Given the description of an element on the screen output the (x, y) to click on. 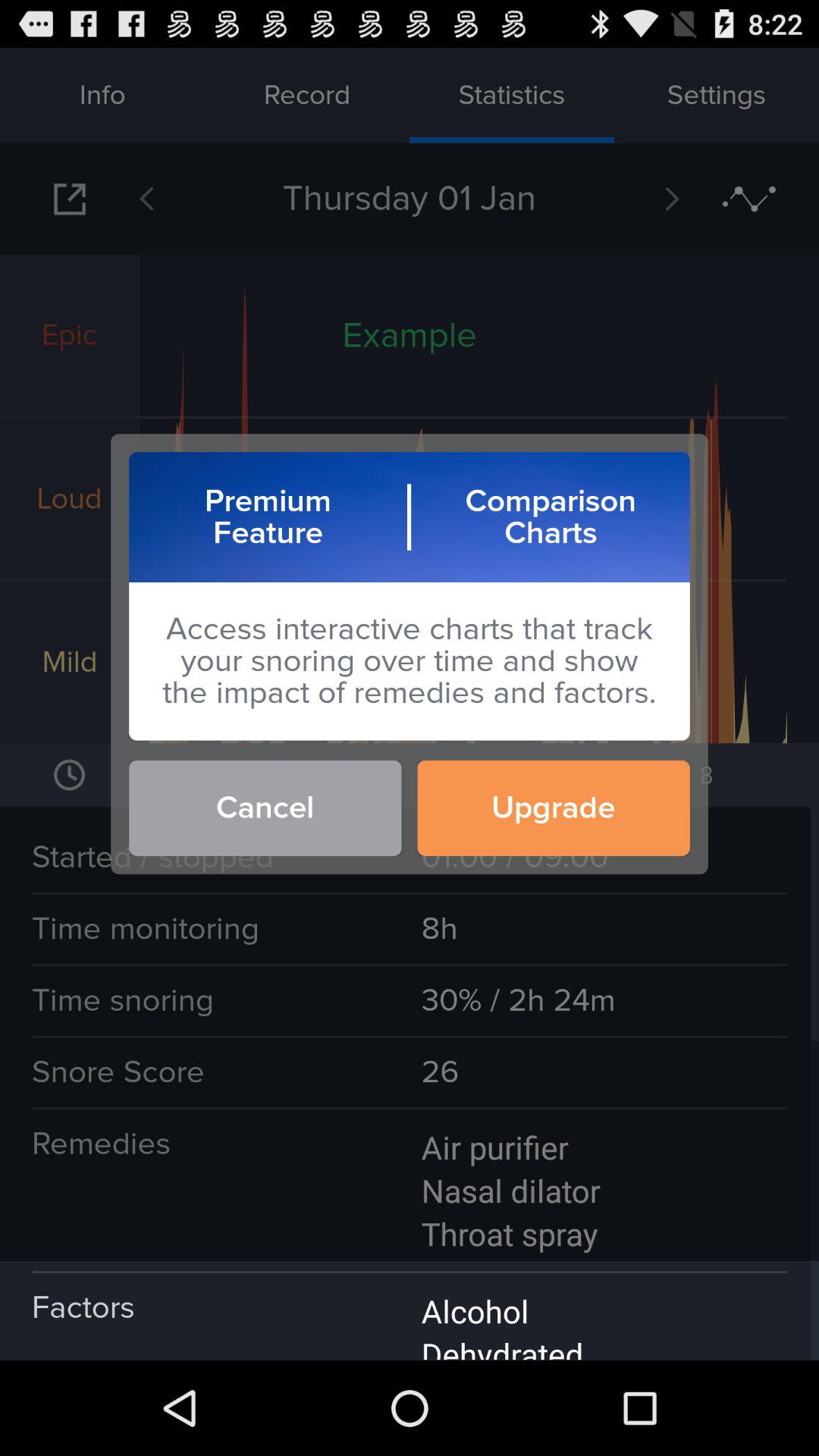
launch the icon to the left of upgrade button (265, 807)
